Given the description of an element on the screen output the (x, y) to click on. 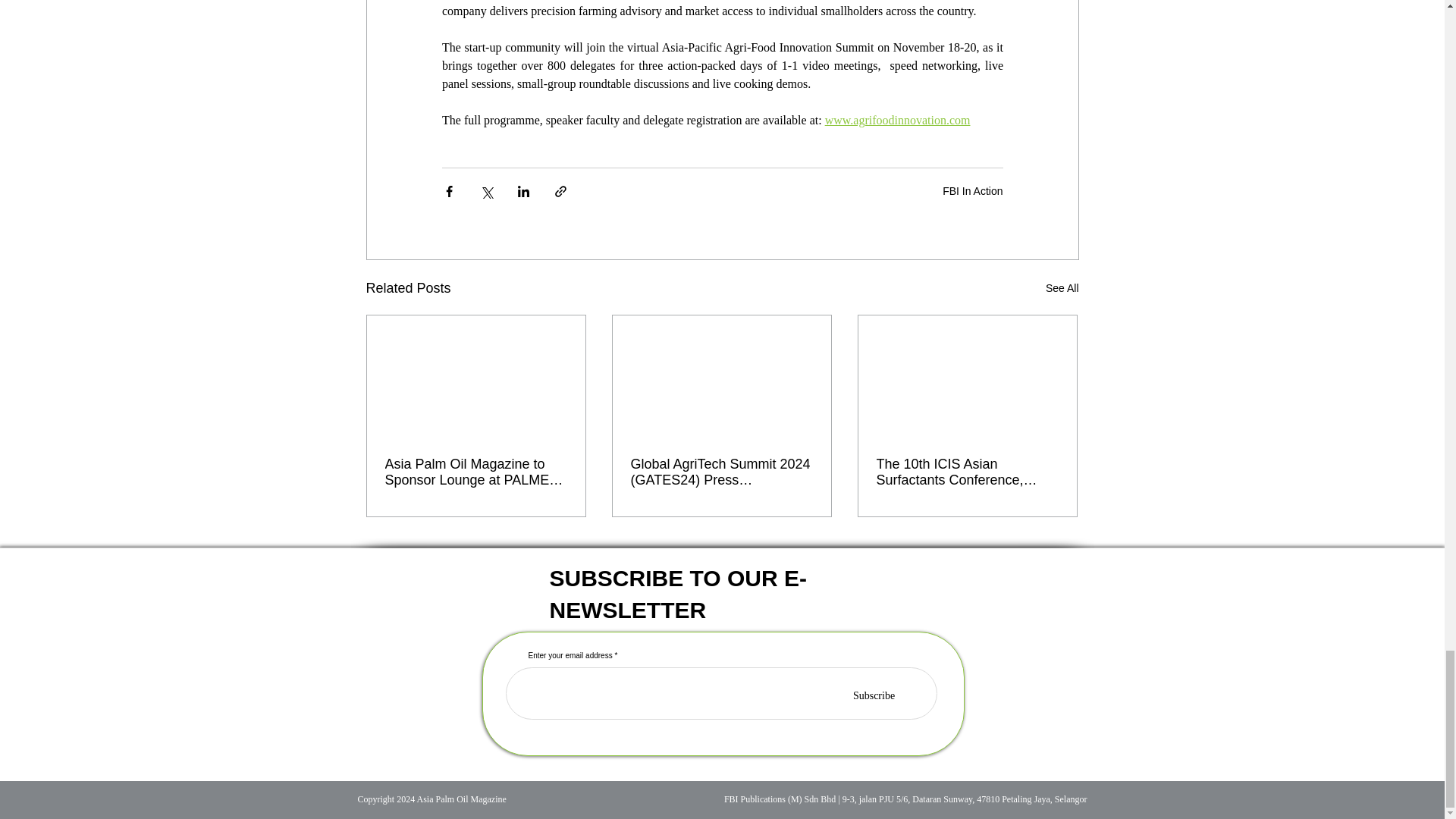
www.agrifoodinnovation.com (896, 119)
FBI In Action (972, 191)
See All (1061, 288)
